Given the description of an element on the screen output the (x, y) to click on. 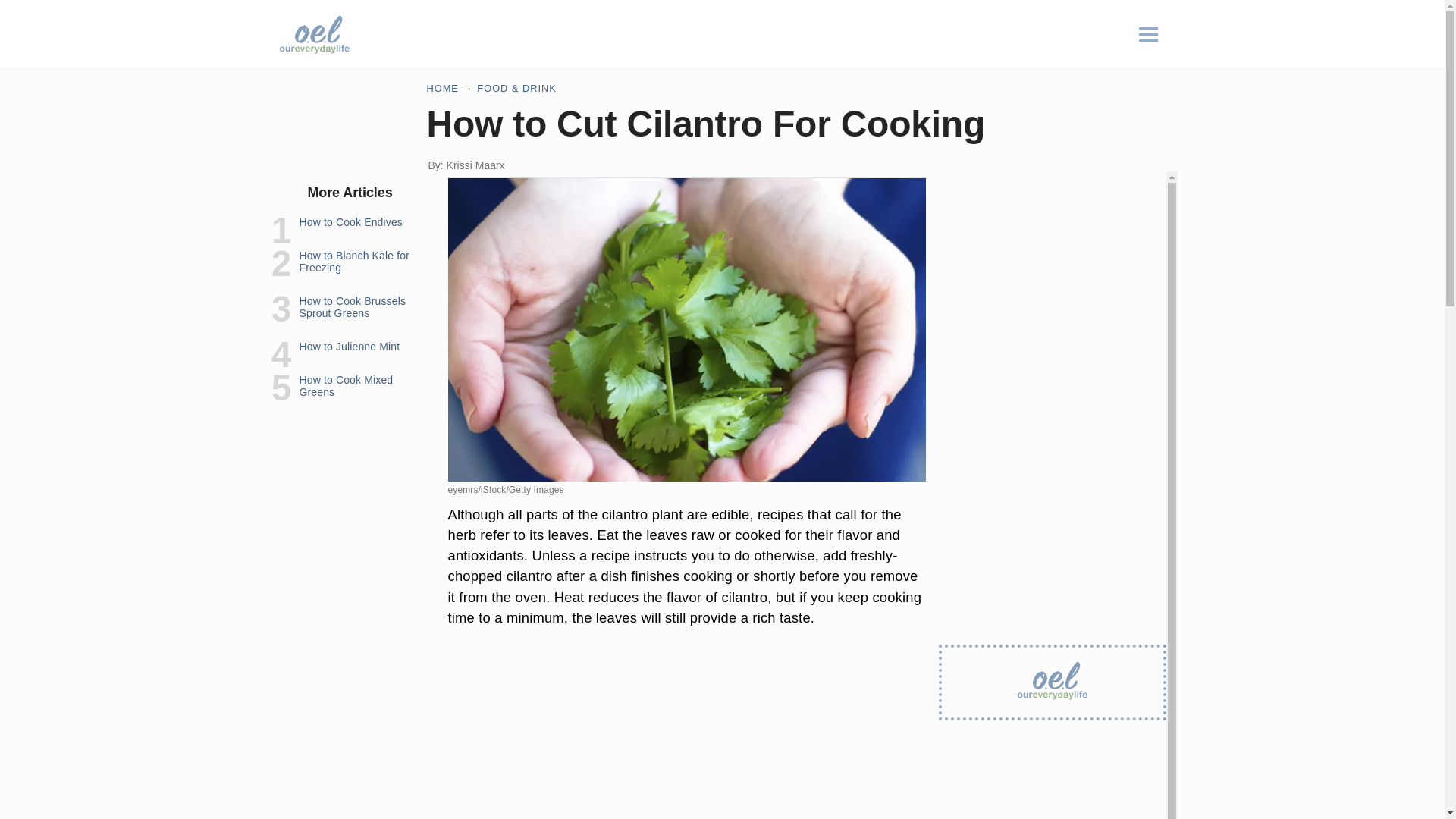
How to Cook Brussels Sprout Greens (352, 306)
How to Julienne Mint (348, 346)
HOME (442, 88)
How to Cook Endives (350, 222)
How to Blanch Kale for Freezing (353, 261)
How to Cook Mixed Greens (345, 385)
